Given the description of an element on the screen output the (x, y) to click on. 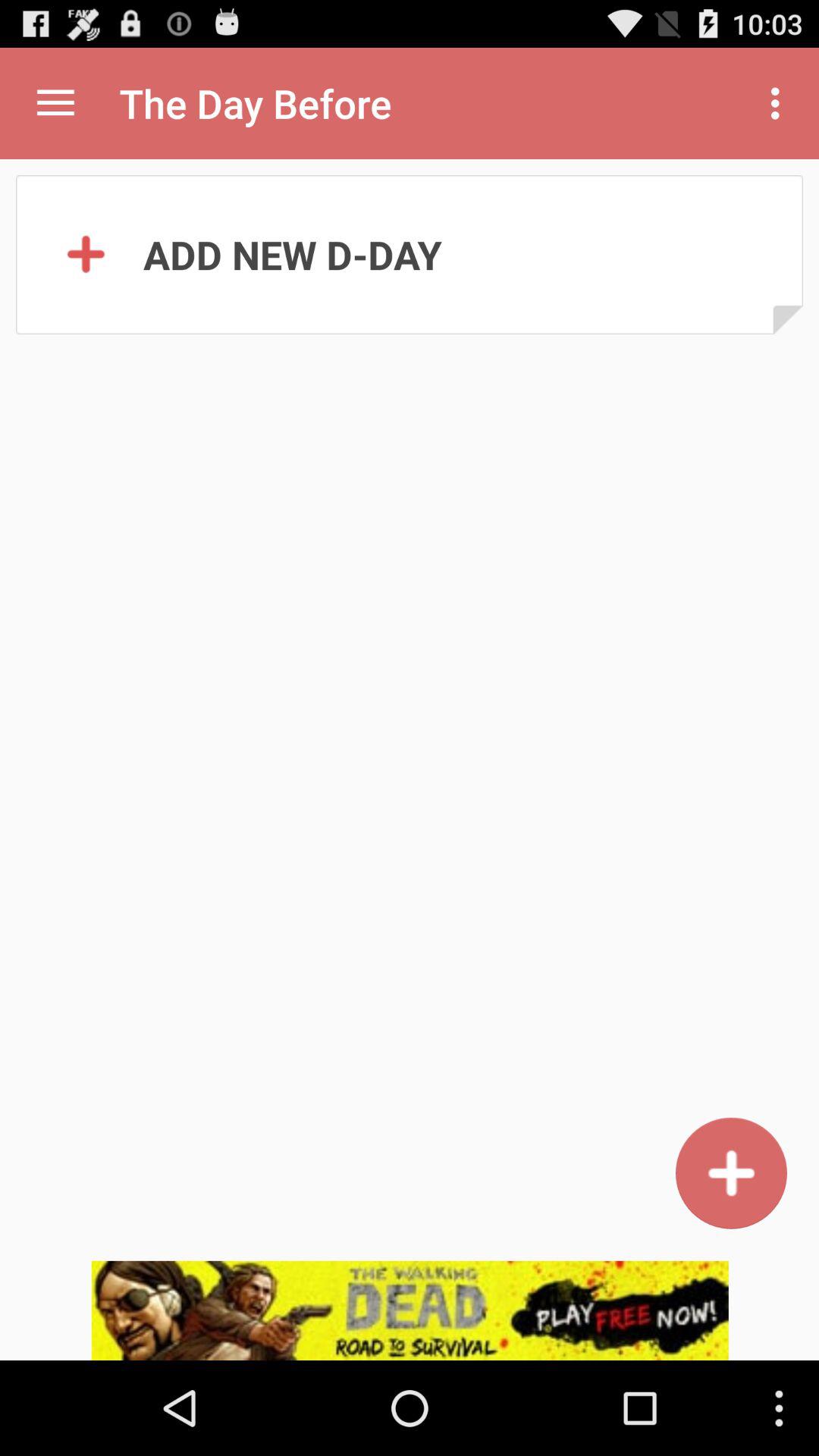
add a new d-day (731, 1173)
